Given the description of an element on the screen output the (x, y) to click on. 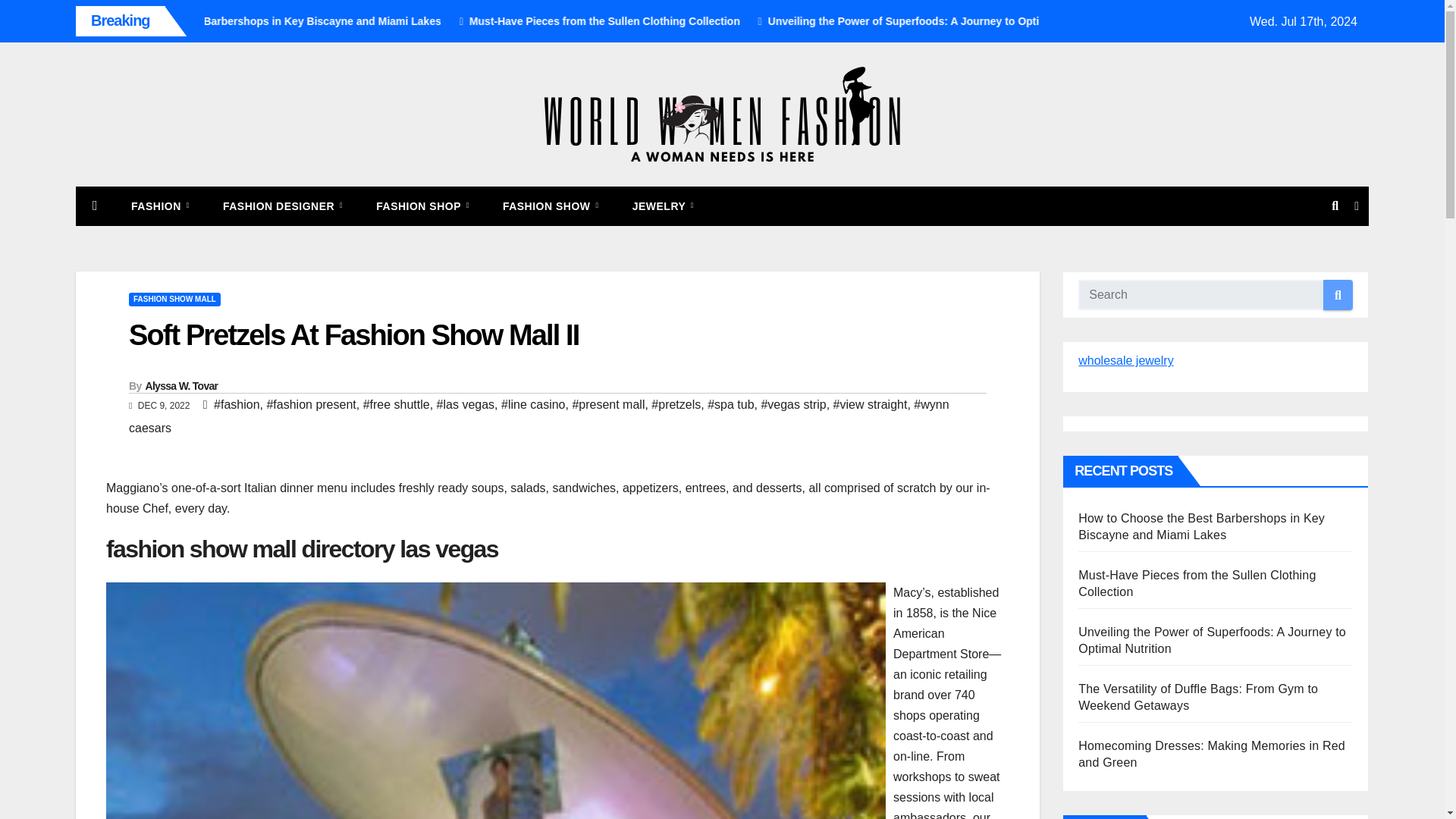
FASHION DESIGNER (282, 206)
Fashion Designer (282, 206)
Must-Have Pieces from the Sullen Clothing Collection (740, 21)
FASHION SHOP (422, 206)
FASHION SHOW (550, 206)
Fashion Shop (422, 206)
FASHION (160, 206)
JEWELRY (663, 206)
Fashion (160, 206)
